Given the description of an element on the screen output the (x, y) to click on. 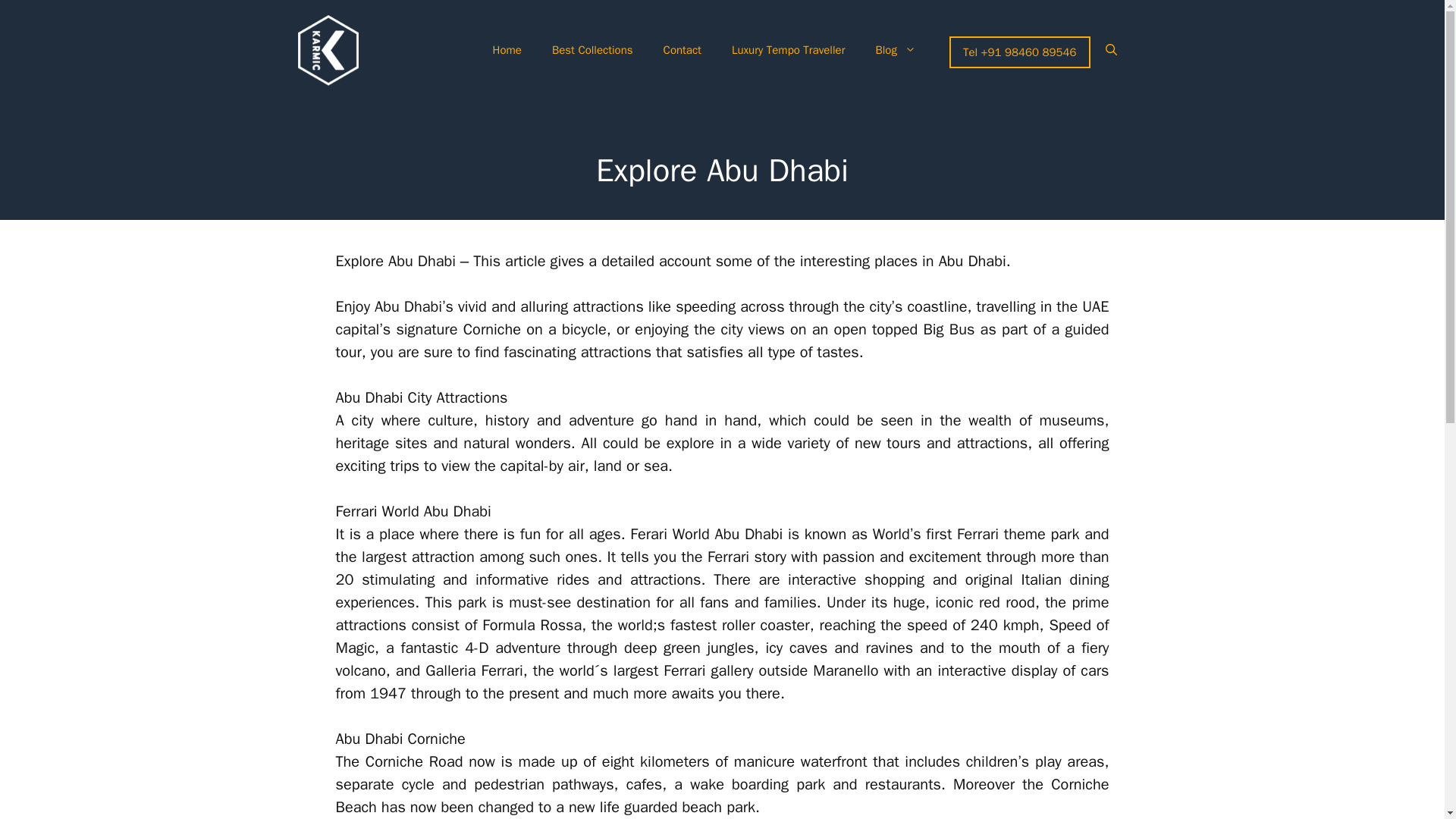
Home (507, 49)
Contact (681, 49)
Luxury Tempo Traveller (788, 49)
Blog (895, 49)
Best Collections (592, 49)
